Given the description of an element on the screen output the (x, y) to click on. 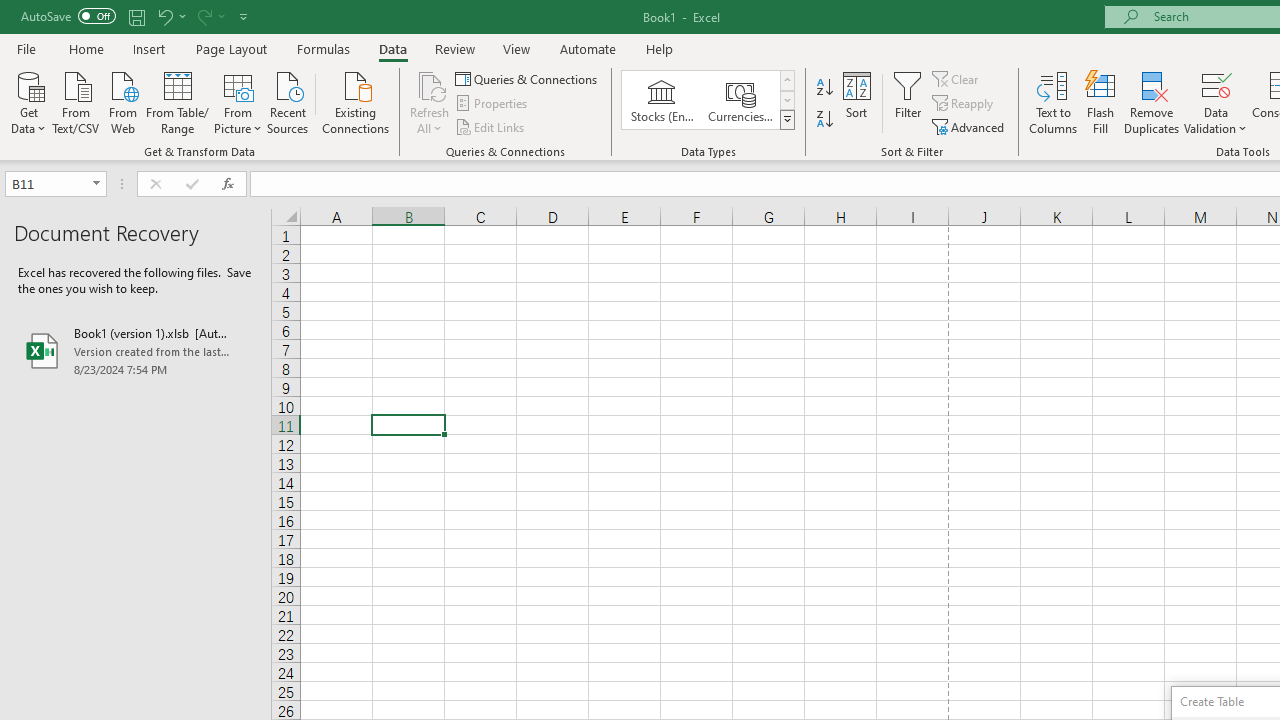
Sort A to Z (824, 87)
From Picture (238, 101)
